Given the description of an element on the screen output the (x, y) to click on. 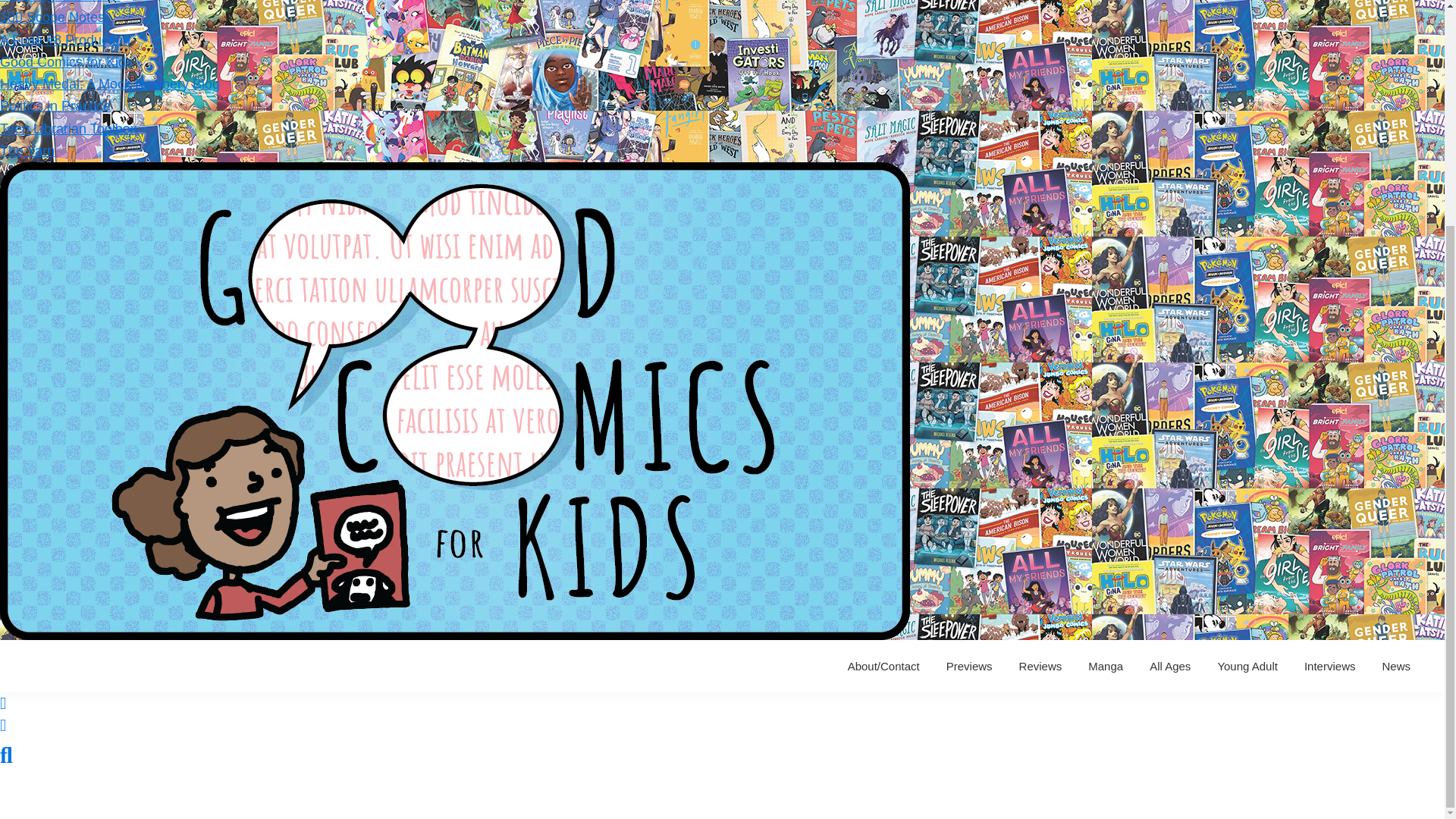
Interviews (1329, 665)
Young Adult (1246, 665)
Heavy Medal: A Mock Newbery Blog (109, 83)
News (1396, 665)
Reviews (1040, 665)
Manga (1105, 665)
All Ages (1170, 665)
Good Comics for Kids (66, 61)
Politics in Practice (55, 105)
100 Scope Notes (52, 17)
